Given the description of an element on the screen output the (x, y) to click on. 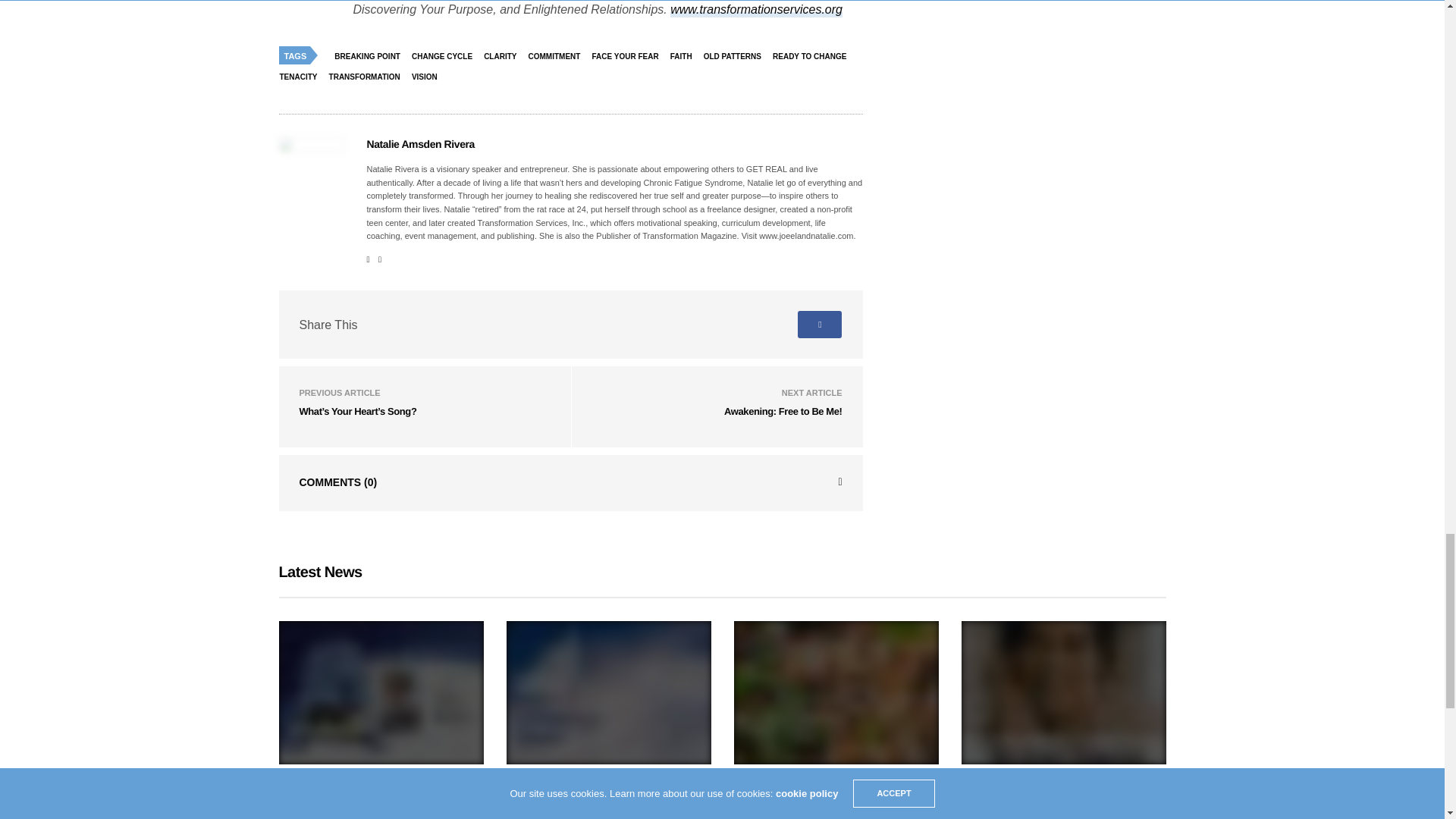
OLD PATTERNS (736, 55)
CHANGE CYCLE (445, 55)
FACE YOUR FEAR (628, 55)
FAITH (684, 55)
VISION (427, 76)
www.transformationservices.org (756, 10)
BREAKING POINT (371, 55)
TENACITY (302, 76)
COMMITMENT (558, 55)
Awakening: Free to Be Me! (782, 410)
TRANSFORMATION (369, 76)
CLARITY (503, 55)
READY TO CHANGE (812, 55)
